Given the description of an element on the screen output the (x, y) to click on. 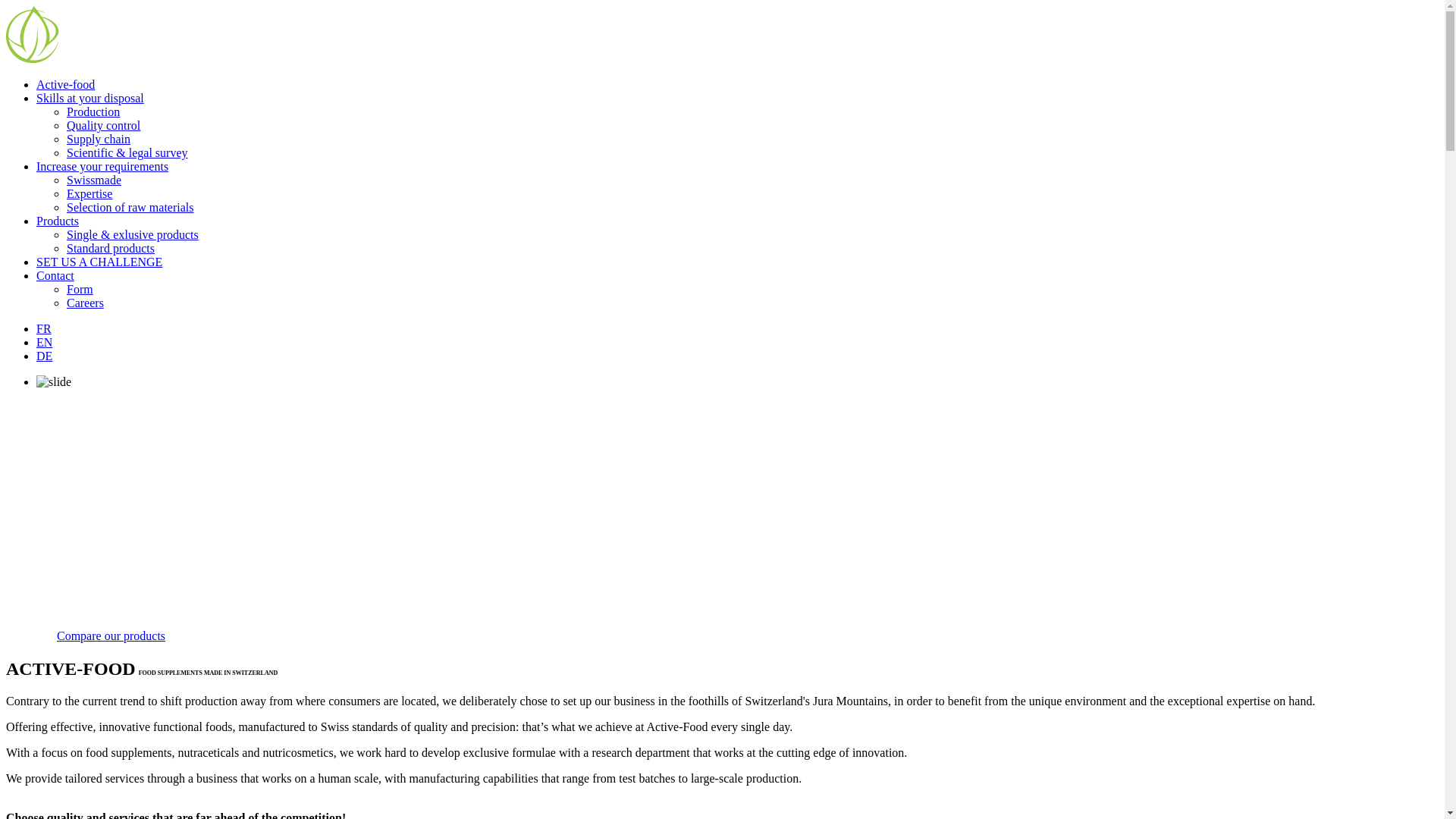
SET US A CHALLENGE Element type: text (99, 261)
Skills at your disposal Element type: text (90, 97)
DE Element type: text (44, 355)
Form Element type: text (79, 288)
Standard products Element type: text (110, 247)
Careers Element type: text (84, 302)
Swissmade Element type: text (93, 179)
Expertise Element type: text (89, 193)
Selection of raw materials Element type: text (130, 206)
Production Element type: text (92, 111)
FR Element type: text (43, 328)
Scientific & legal survey Element type: text (127, 152)
Compare our products Element type: text (110, 635)
Products Element type: text (57, 220)
Active-food Element type: text (65, 84)
Single & exlusive products Element type: text (132, 234)
EN Element type: text (44, 341)
Quality control Element type: text (103, 125)
Supply chain Element type: text (98, 138)
Contact Element type: text (55, 275)
Increase your requirements Element type: text (102, 166)
